Given the description of an element on the screen output the (x, y) to click on. 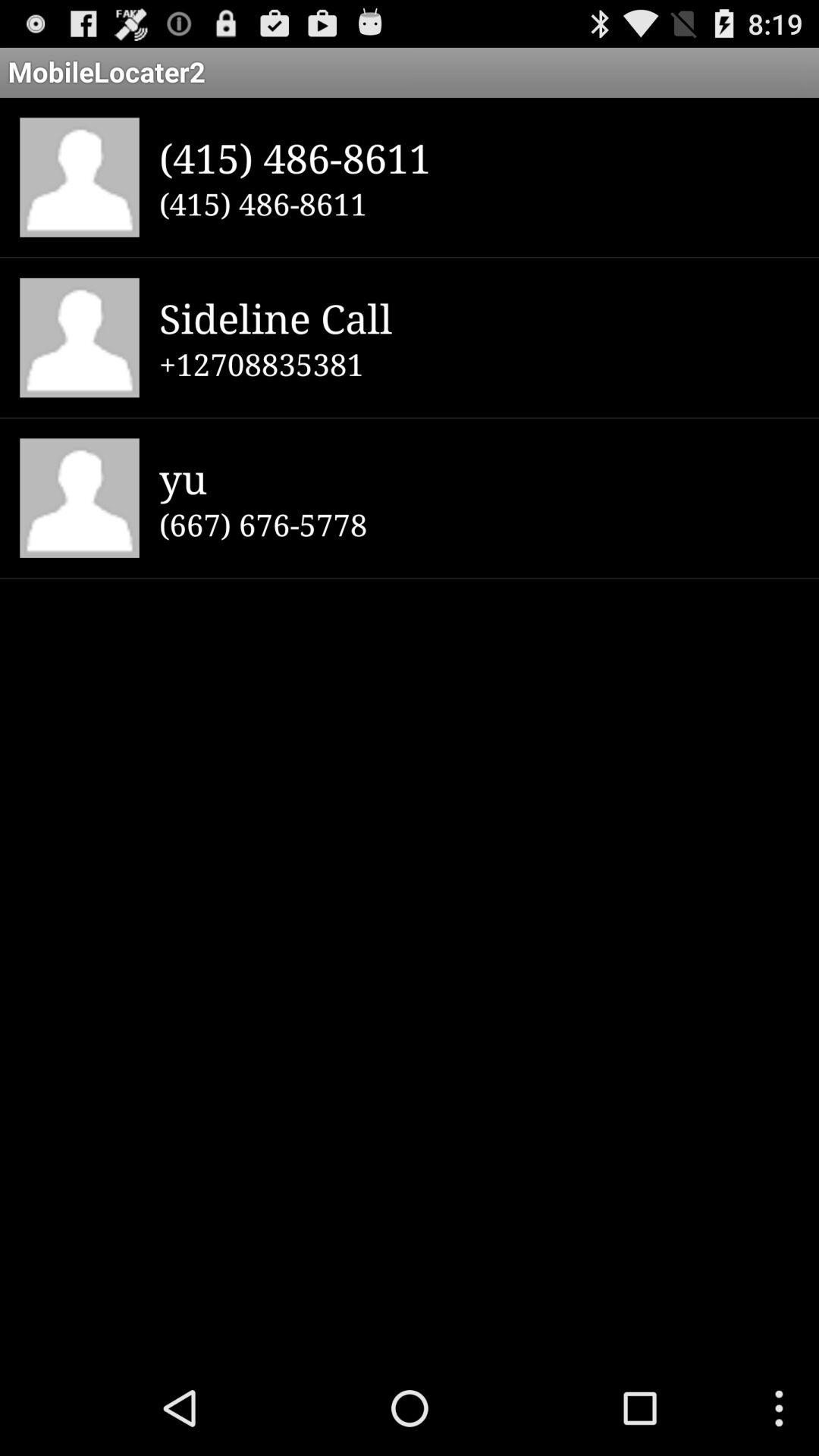
open (667) 676-5778 app (479, 524)
